Given the description of an element on the screen output the (x, y) to click on. 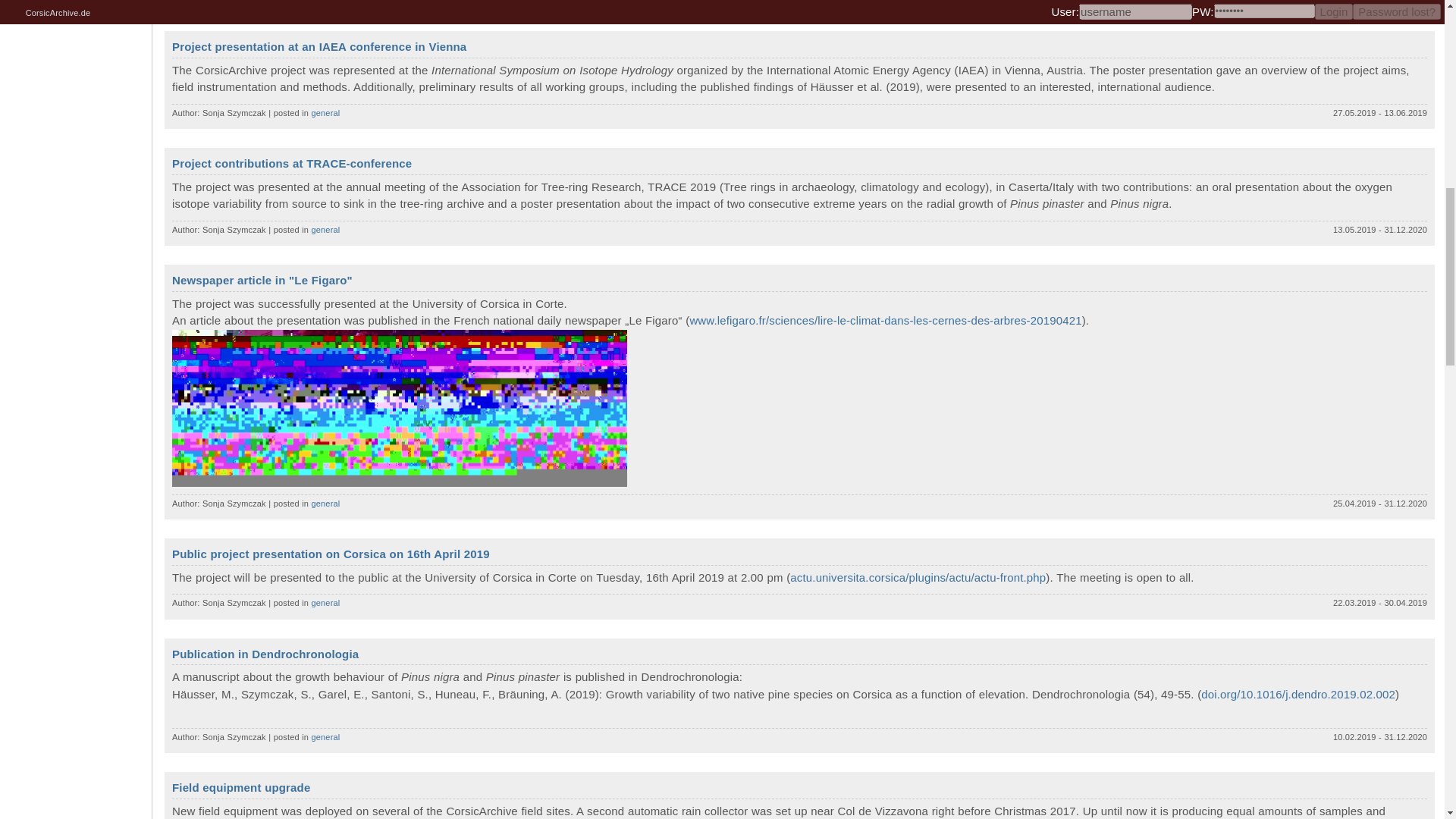
View all posts in general (325, 228)
View all posts in general (325, 502)
View all posts in general (325, 112)
Project presentation at an IAEA conference in Vienna (318, 46)
View all posts in general (325, 737)
View all posts in general (325, 602)
